Given the description of an element on the screen output the (x, y) to click on. 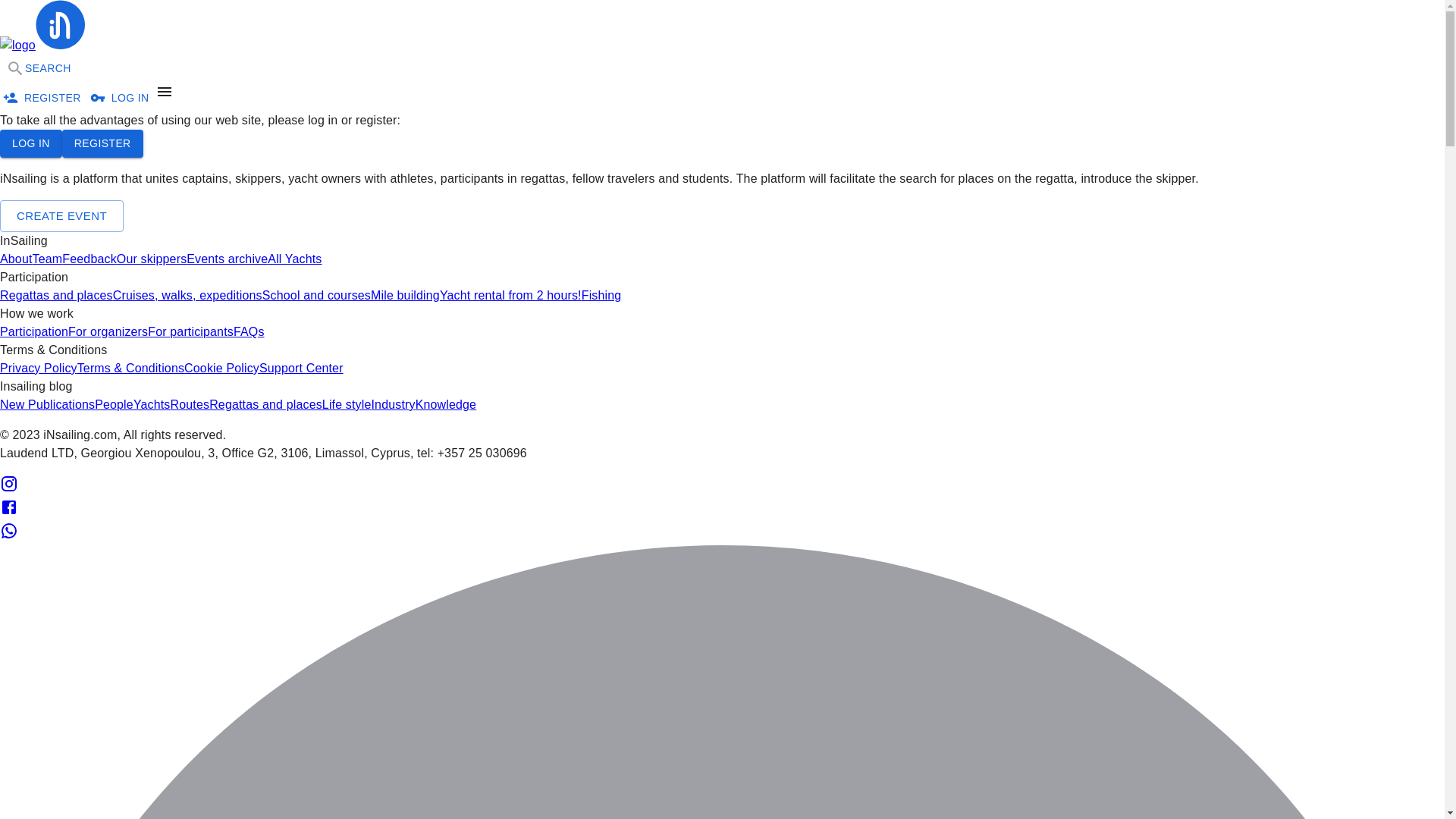
Events archive (226, 258)
New Publications (47, 404)
SEARCH (38, 67)
Knowledge (445, 404)
Fishing (600, 295)
Support Center (301, 367)
Our skippers (151, 258)
Cookie Policy (221, 367)
About (16, 258)
For participants (190, 331)
Yacht rental from 2 hours! (509, 295)
Routes (189, 404)
Team (47, 258)
Industry (392, 404)
All Yachts (294, 258)
